Given the description of an element on the screen output the (x, y) to click on. 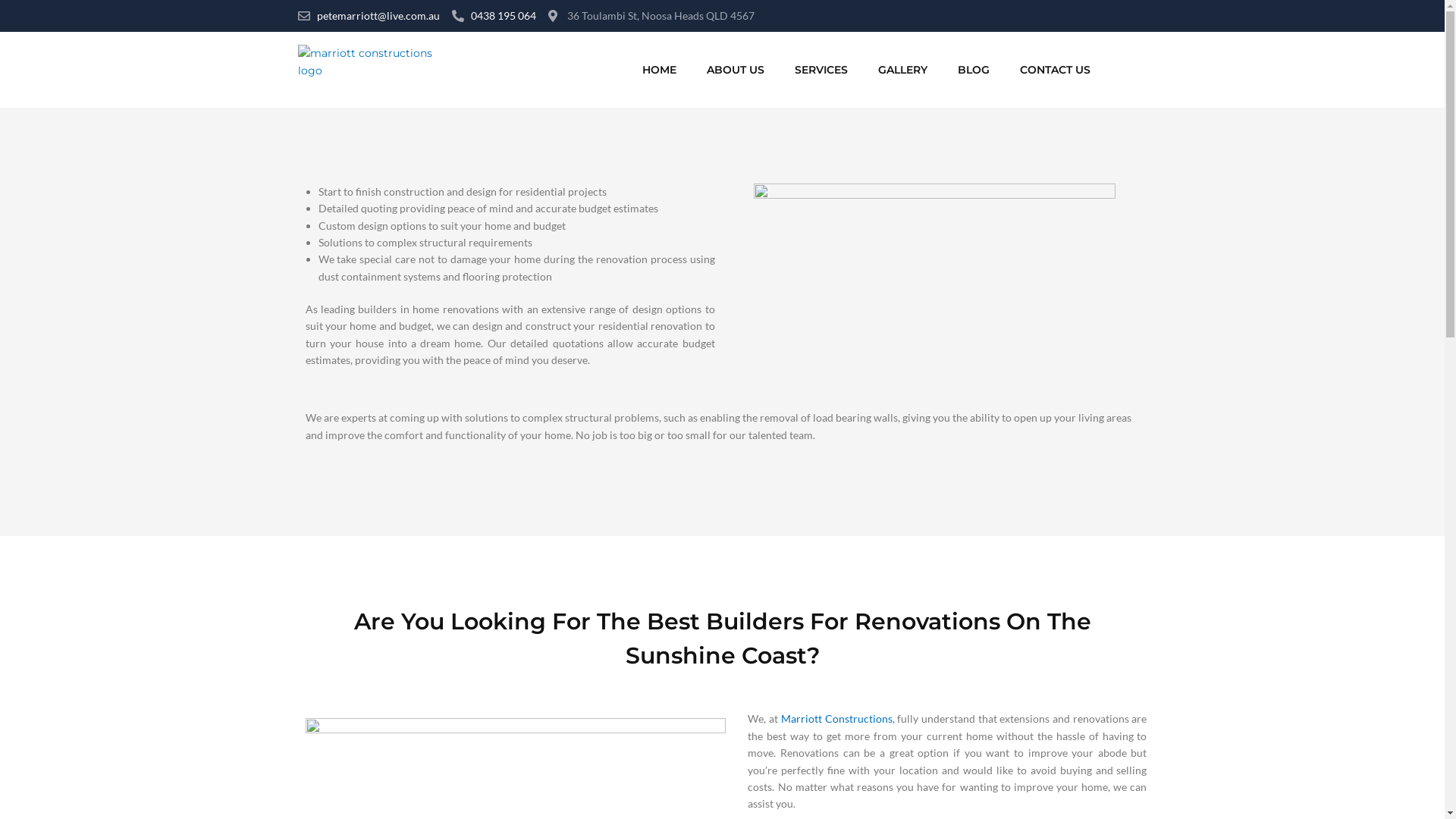
ABOUT US Element type: text (735, 69)
HOME Element type: text (659, 69)
BLOG Element type: text (973, 69)
GALLERY Element type: text (902, 69)
CONTACT US Element type: text (1054, 69)
petemarriott@live.com.au Element type: text (368, 15)
SERVICES Element type: text (820, 69)
0438 195 064 Element type: text (493, 15)
Marriott Constructions Element type: text (836, 718)
